Given the description of an element on the screen output the (x, y) to click on. 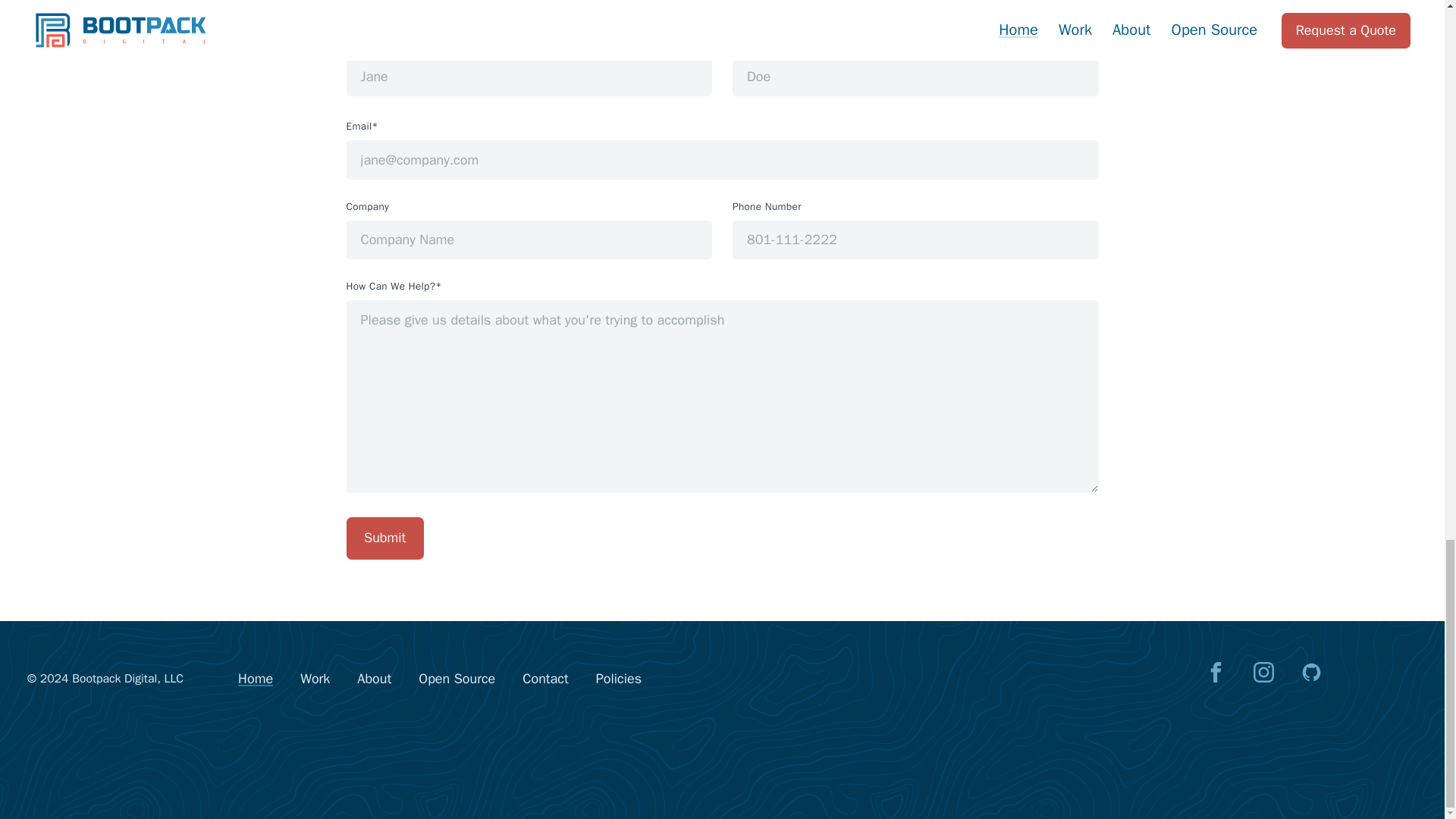
Policies (618, 678)
Open Source (456, 678)
Contact (544, 678)
Submit (384, 537)
Work (314, 678)
About (373, 678)
Home (255, 678)
